Given the description of an element on the screen output the (x, y) to click on. 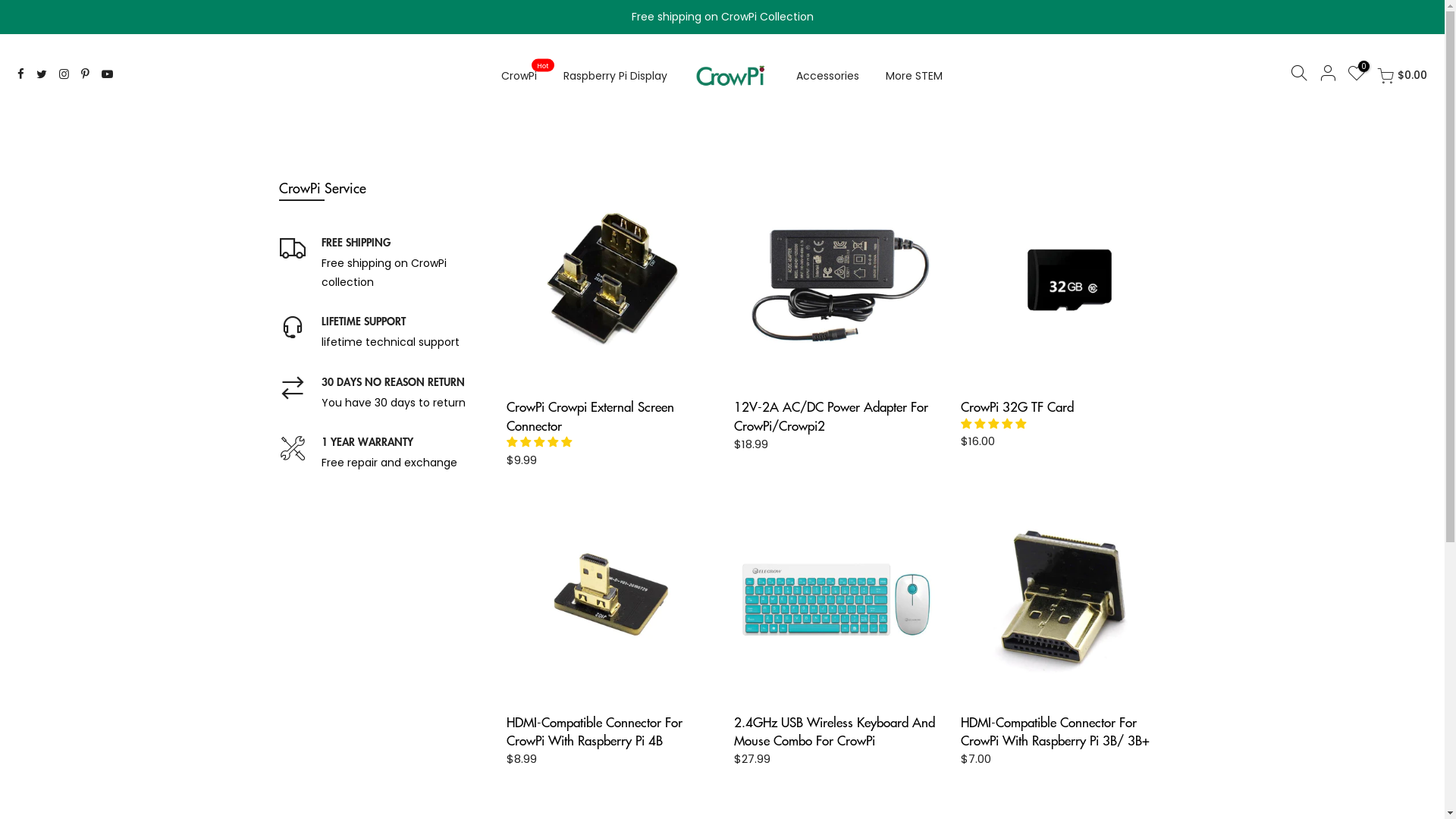
HDMI-Compatible Connector For CrowPi With Raspberry Pi 4B Element type: text (594, 730)
Raspberry Pi Display Element type: text (615, 75)
0 Element type: text (1356, 75)
CrowPi
Hot Element type: text (519, 75)
More STEM Element type: text (914, 75)
$0.00 Element type: text (1402, 74)
12V-2A AC/DC Power Adapter For CrowPi/Crowpi2 Element type: text (831, 415)
Accessories Element type: text (827, 75)
CrowPi Crowpi External Screen Connector Element type: text (590, 415)
CrowPi 32G TF Card Element type: text (1016, 406)
2.4GHz USB Wireless Keyboard And Mouse Combo For CrowPi Element type: text (834, 730)
